Given the description of an element on the screen output the (x, y) to click on. 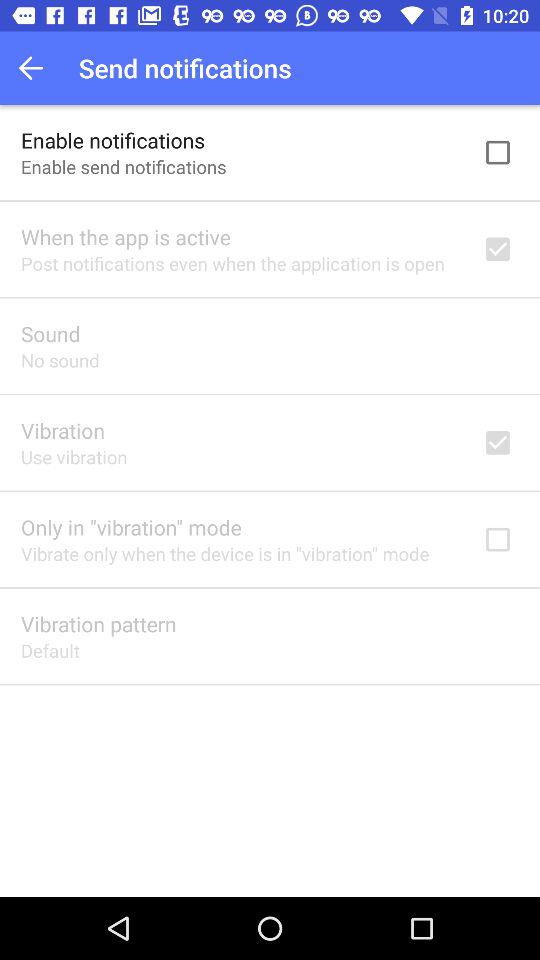
launch default item (50, 650)
